Given the description of an element on the screen output the (x, y) to click on. 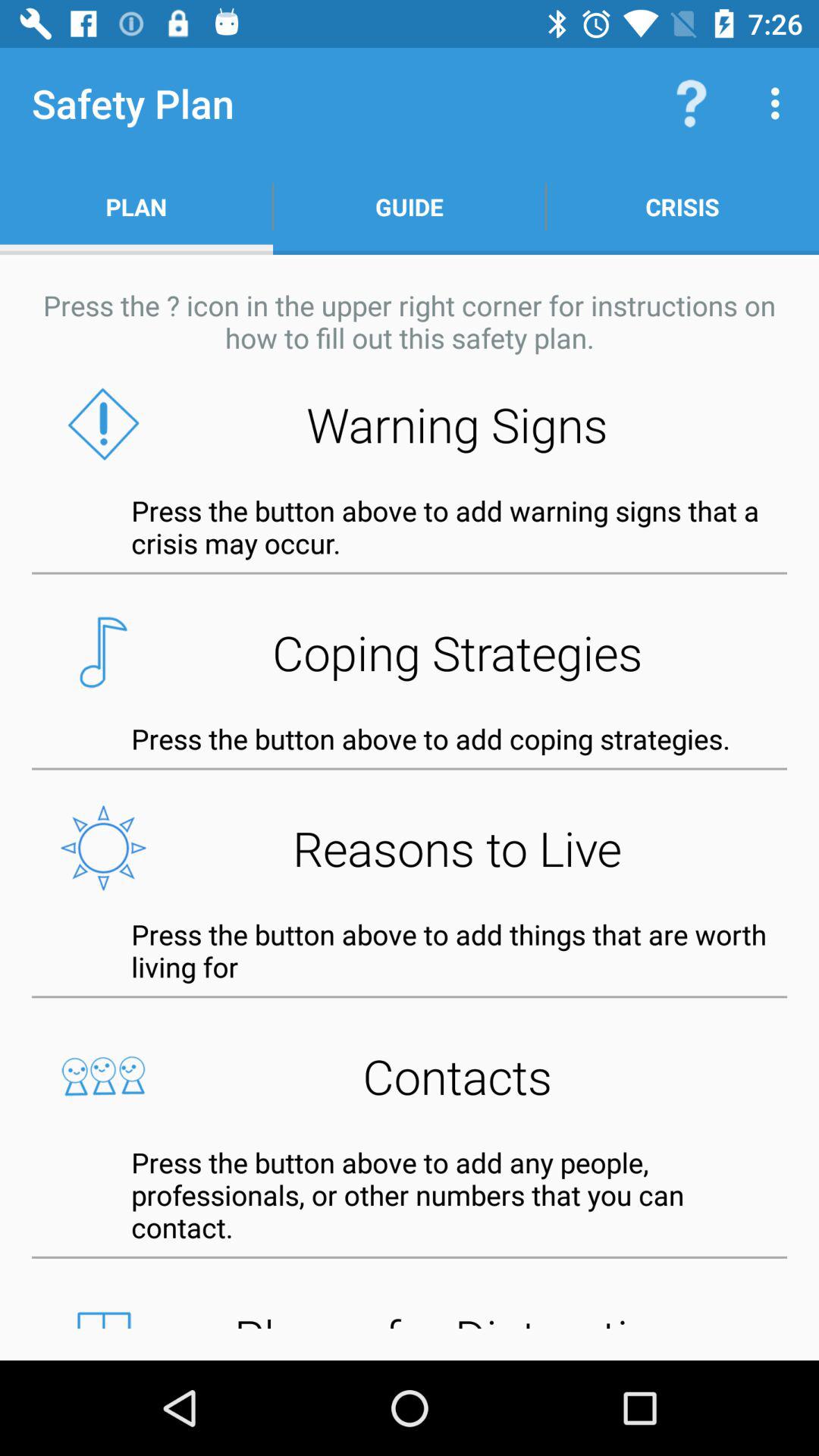
press contacts icon (409, 1075)
